Given the description of an element on the screen output the (x, y) to click on. 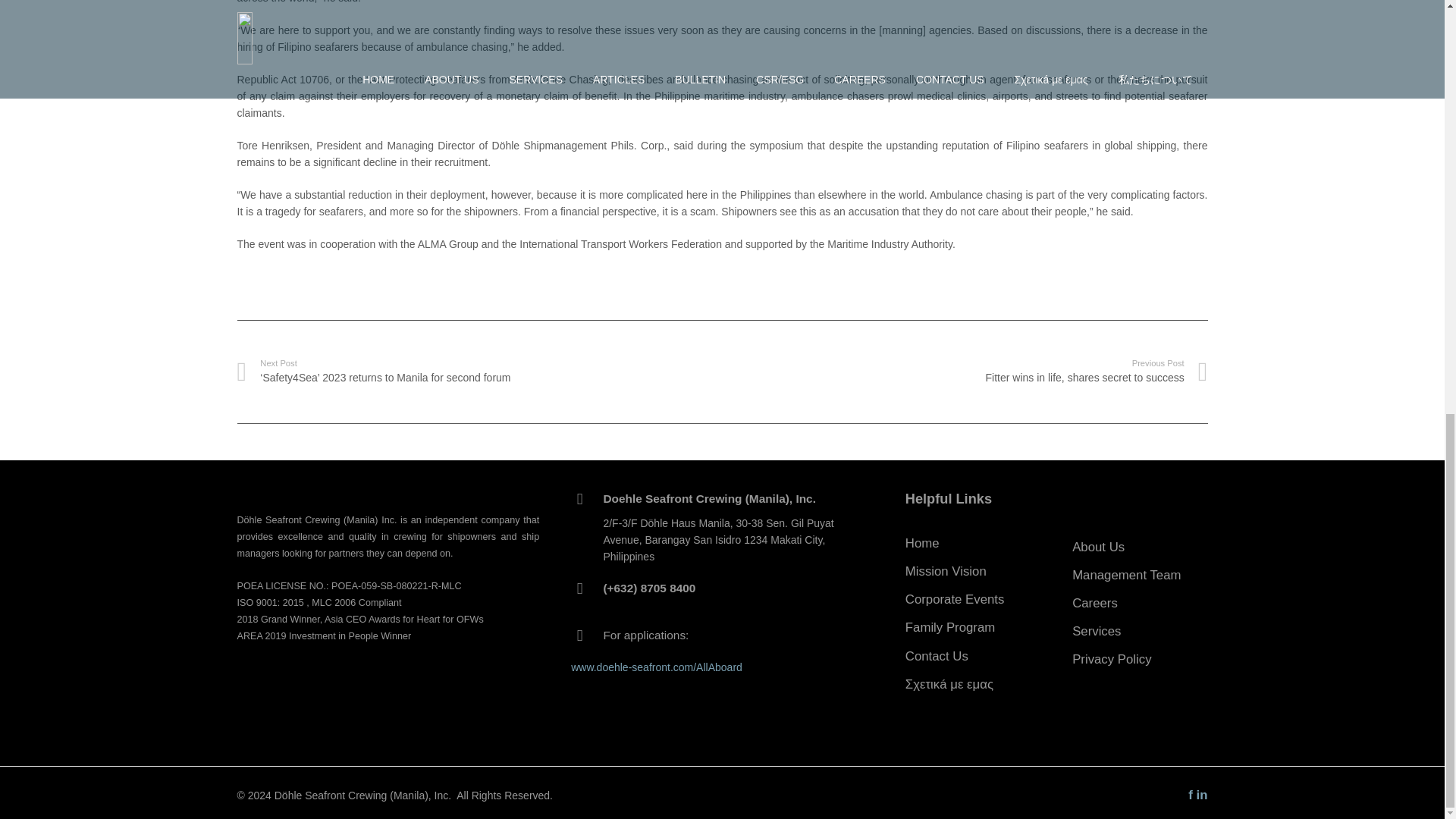
Home (922, 543)
Careers (1094, 603)
Services (1096, 631)
Mission Vision (946, 571)
Back to top (1411, 9)
About Us (1097, 546)
Management Team (1125, 575)
Contact Us (964, 371)
Fitter wins in life, shares secret to success (936, 656)
